Given the description of an element on the screen output the (x, y) to click on. 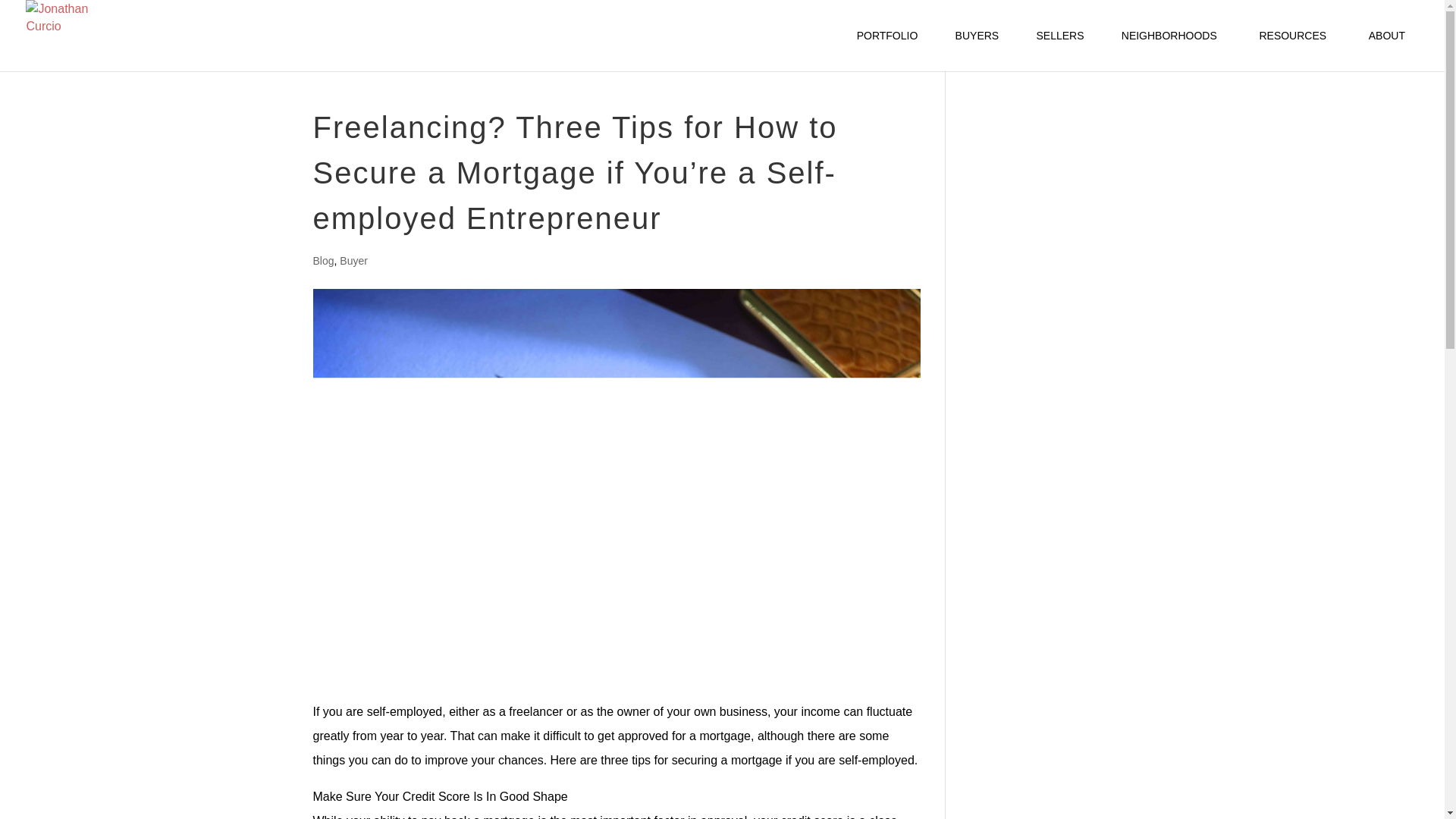
BUYERS (976, 50)
SELLERS (1060, 50)
ABOUT (1389, 50)
Buyer (353, 260)
PORTFOLIO (886, 50)
RESOURCES (1294, 50)
Blog (323, 260)
NEIGHBORHOODS (1170, 50)
